Given the description of an element on the screen output the (x, y) to click on. 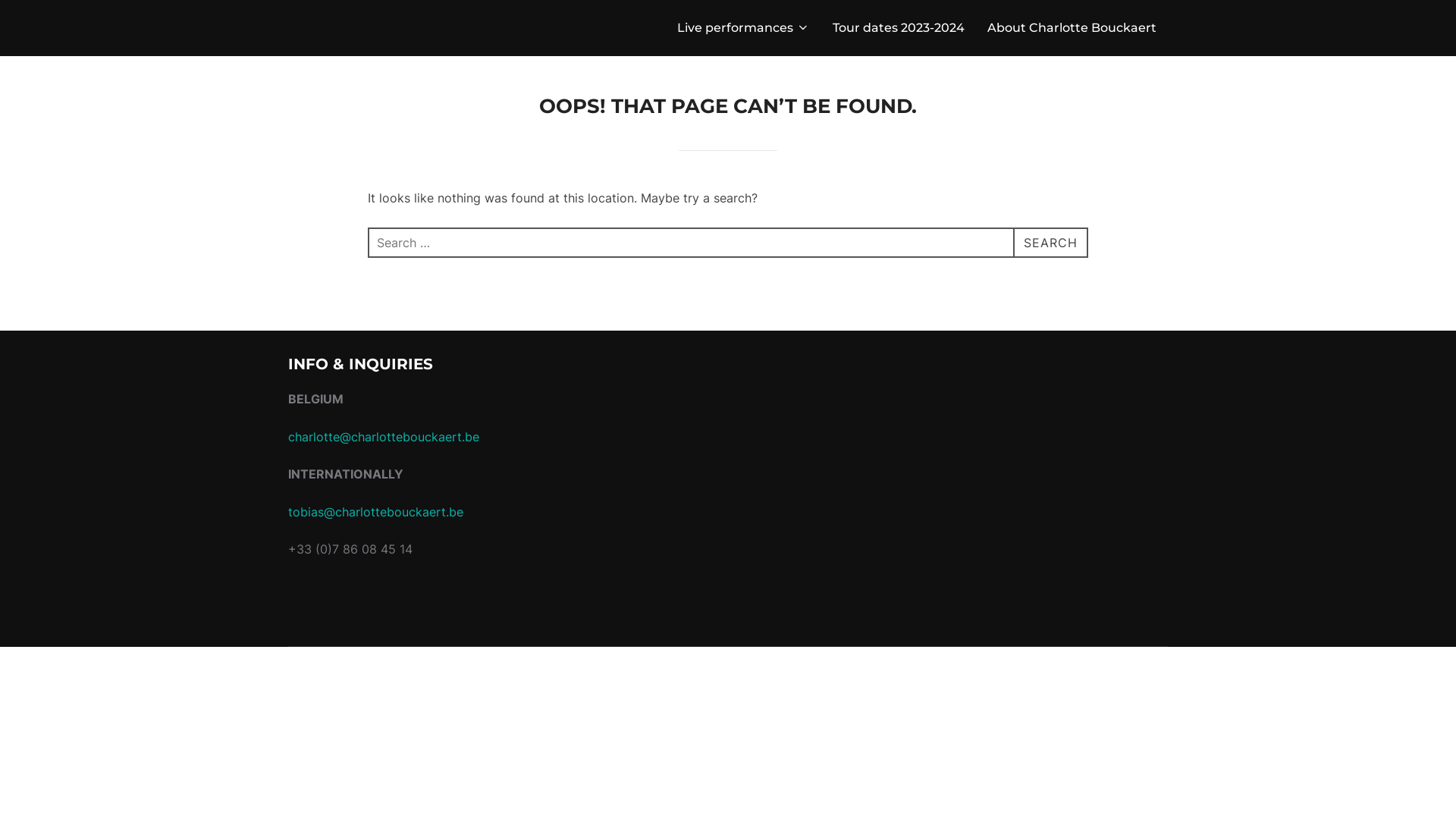
SEARCH Element type: text (1050, 242)
About Charlotte Bouckaert Element type: text (1071, 27)
Live performances Element type: text (743, 27)
tobias@charlottebouckaert.be Element type: text (375, 511)
Tour dates 2023-2024 Element type: text (898, 27)
charlotte@charlottebouckaert.be Element type: text (383, 436)
